Given the description of an element on the screen output the (x, y) to click on. 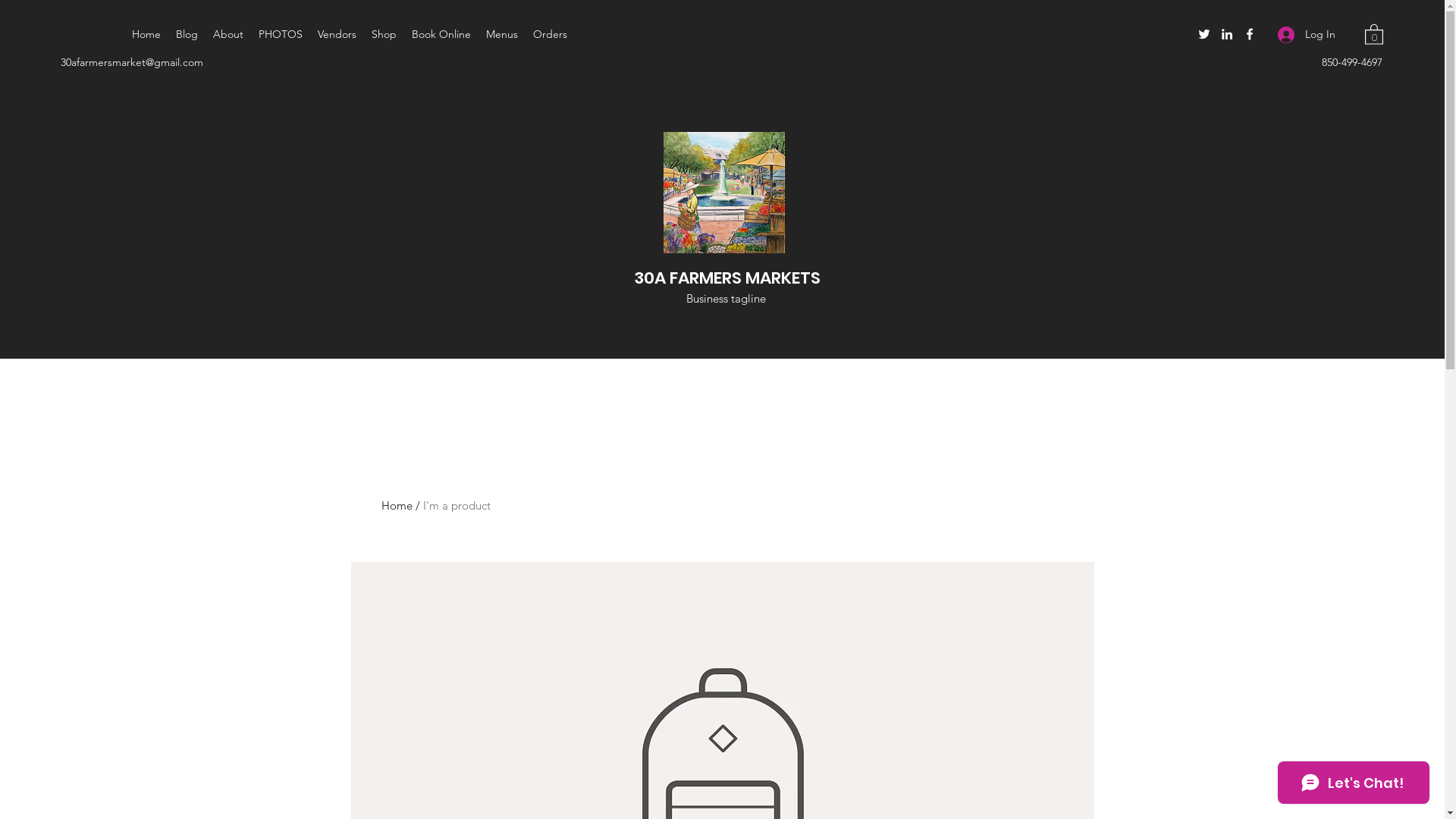
I'm a product Element type: text (456, 505)
Book Online Element type: text (441, 33)
Blog Element type: text (186, 33)
0 Element type: text (1374, 33)
About Element type: text (228, 33)
30afarmersmarket@gmail.com Element type: text (131, 62)
Log In Element type: text (1306, 34)
PHOTOS Element type: text (280, 33)
Menus Element type: text (501, 33)
Home Element type: text (395, 505)
30A FARMERS MARKETS Element type: text (726, 277)
Orders Element type: text (549, 33)
Home Element type: text (146, 33)
Shop Element type: text (384, 33)
Vendors Element type: text (337, 33)
